Given the description of an element on the screen output the (x, y) to click on. 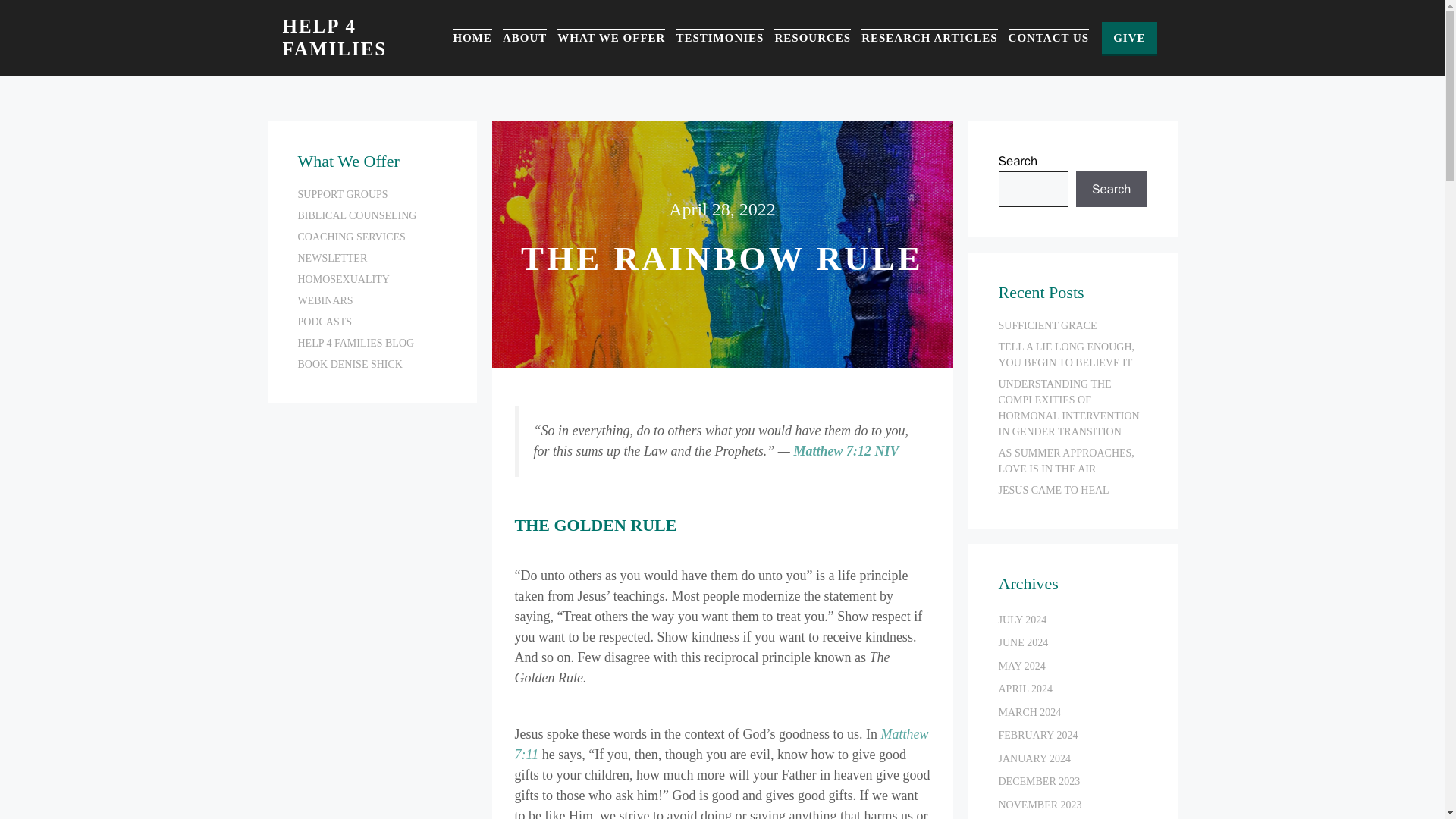
Matthew 7:11 (720, 744)
HELP 4 FAMILIES (334, 36)
TESTIMONIES (718, 37)
RESEARCH ARTICLES (929, 37)
GIVE (1129, 38)
CONTACT US (1049, 37)
WHAT WE OFFER (611, 37)
HOME (472, 37)
ABOUT (524, 37)
Matthew 7:12 NIV (845, 450)
